Given the description of an element on the screen output the (x, y) to click on. 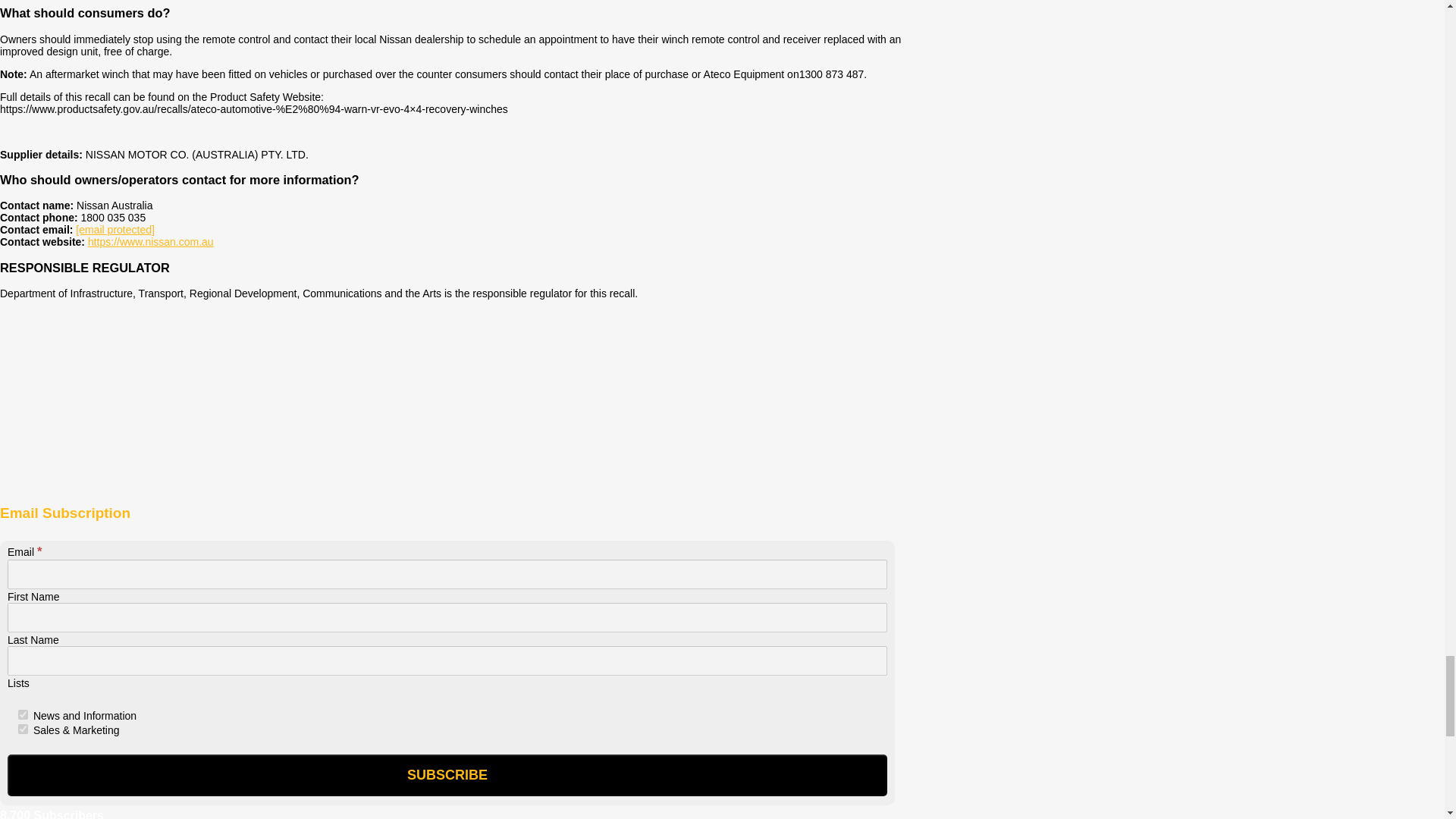
6 (22, 728)
Subscribe (446, 775)
3 (22, 714)
